Given the description of an element on the screen output the (x, y) to click on. 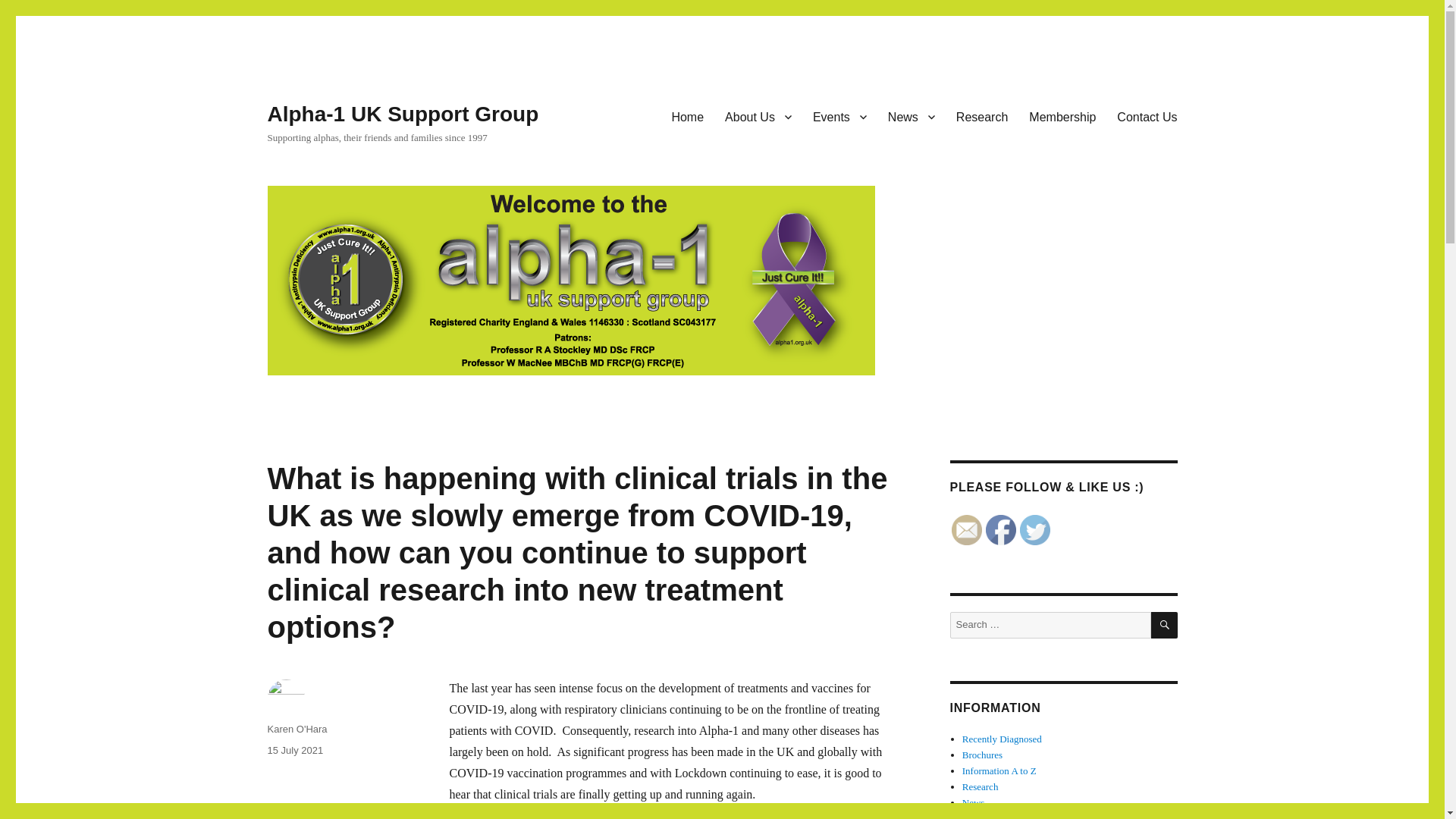
Home (687, 116)
Brochures (982, 754)
Contact Us (1147, 116)
SEARCH (1164, 624)
Facebook (1000, 530)
15 July 2021 (294, 749)
Twitter (1034, 530)
Karen O'Hara (296, 728)
Membership (1061, 116)
News (910, 116)
